Given the description of an element on the screen output the (x, y) to click on. 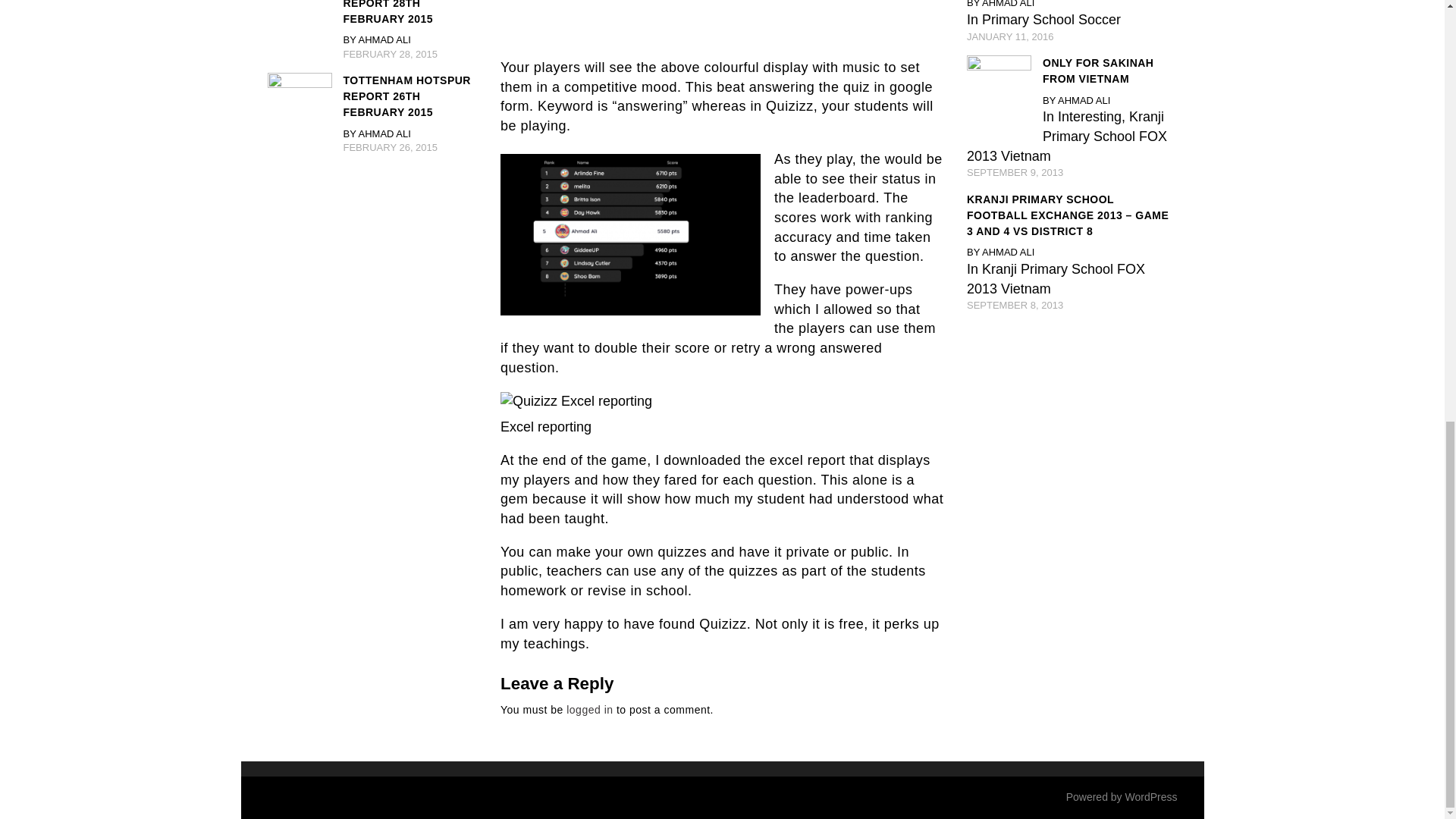
ONLY FOR SAKINAH FROM VIETNAM (1071, 70)
TOTTENHAM HOTSPUR REPORT 26TH FEBRUARY 2015 (371, 96)
Kranji Primary School FOX 2013 Vietnam (1055, 278)
Interesting (1089, 116)
WordPress (1151, 797)
Primary School Soccer (1051, 19)
logged in (589, 709)
TOTTENHAM HOTSPUR REPORT 28TH FEBRUARY 2015 (371, 13)
Kranji Primary School FOX 2013 Vietnam (1066, 135)
